Given the description of an element on the screen output the (x, y) to click on. 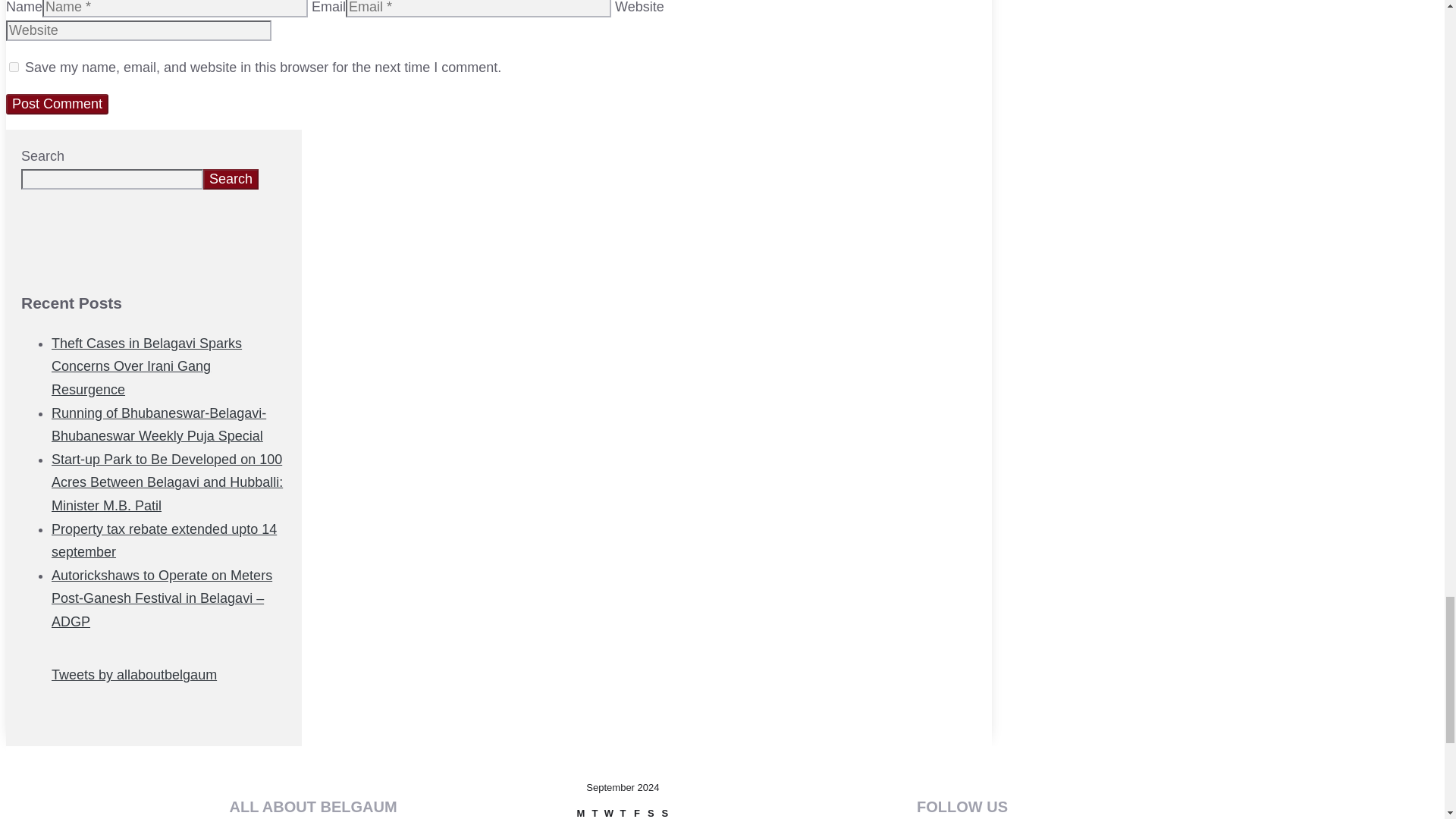
Search (231, 178)
Tweets by allaboutbelgaum (133, 674)
Property tax rebate extended upto 14 september (163, 540)
Post Comment (56, 104)
yes (13, 67)
Post Comment (56, 104)
